Given the description of an element on the screen output the (x, y) to click on. 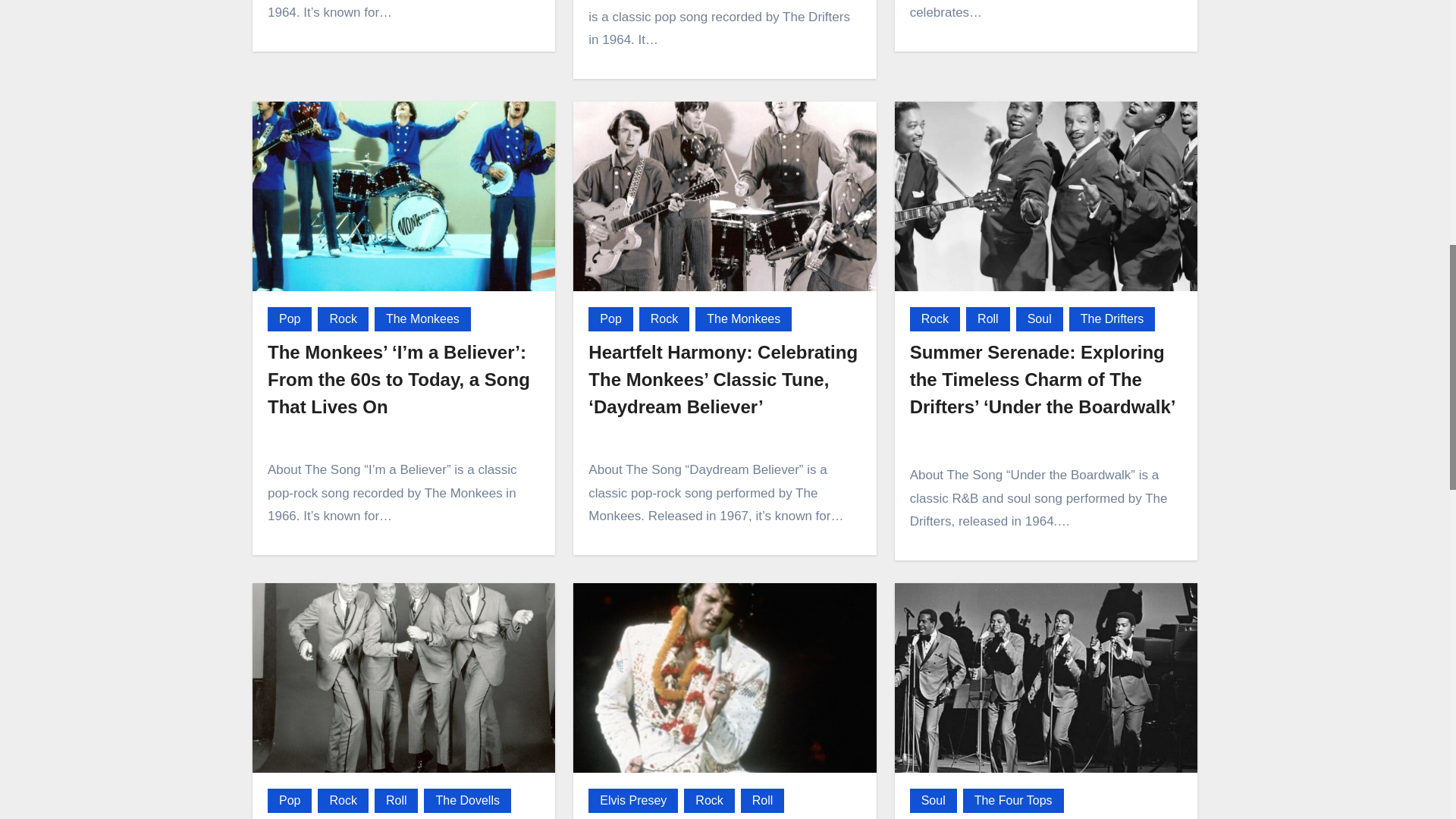
The Monkees (422, 319)
Pop (289, 319)
Pop (609, 319)
Rock (342, 319)
Rock (663, 319)
